Given the description of an element on the screen output the (x, y) to click on. 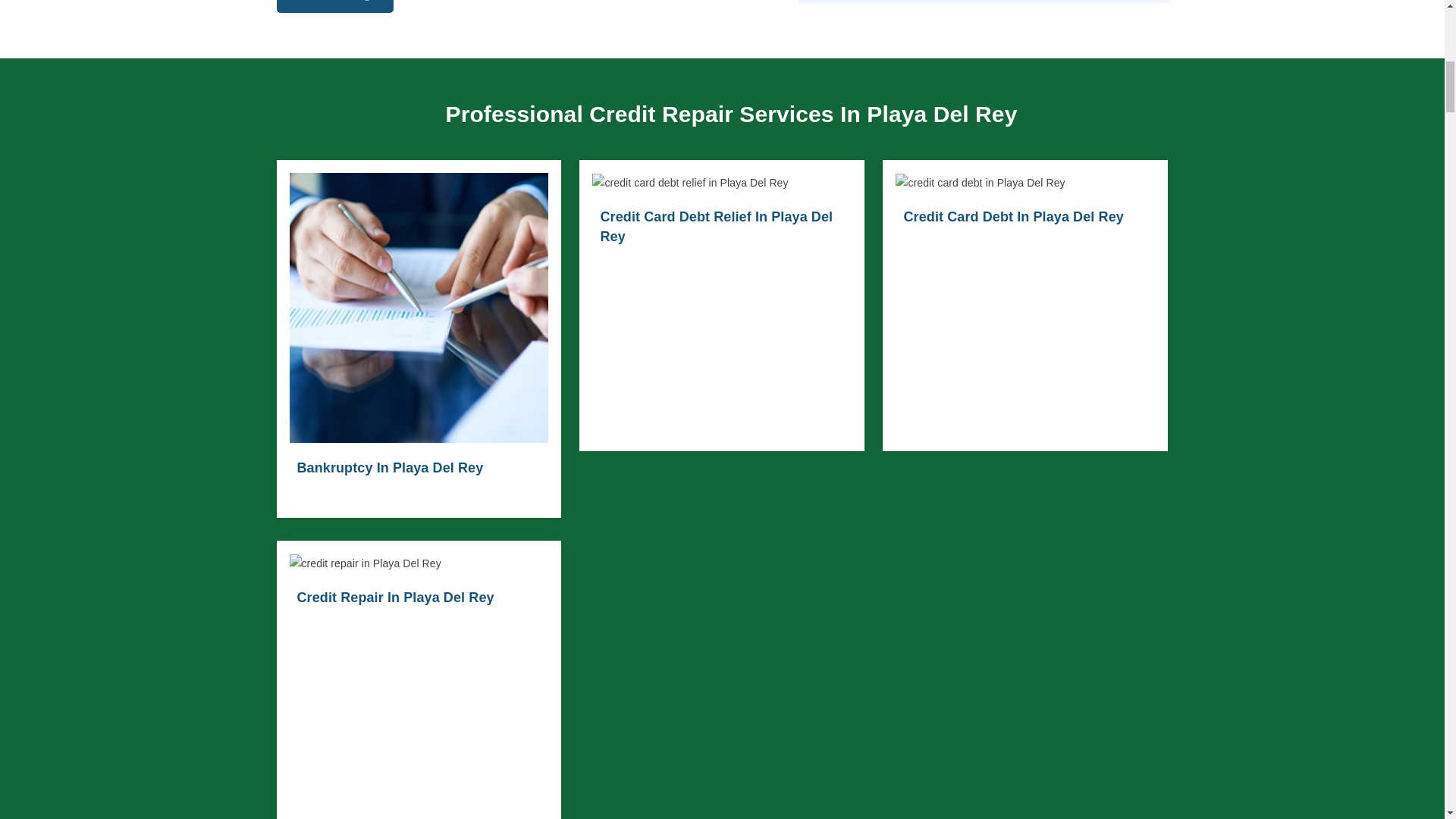
Credit Card Debt In Playa Del Rey (1012, 216)
Credit Repair In Playa Del Rey (396, 597)
Contact Us (334, 6)
Bankruptcy In Playa Del Rey (390, 467)
Credit Card Debt Relief In Playa Del Rey (715, 226)
